Given the description of an element on the screen output the (x, y) to click on. 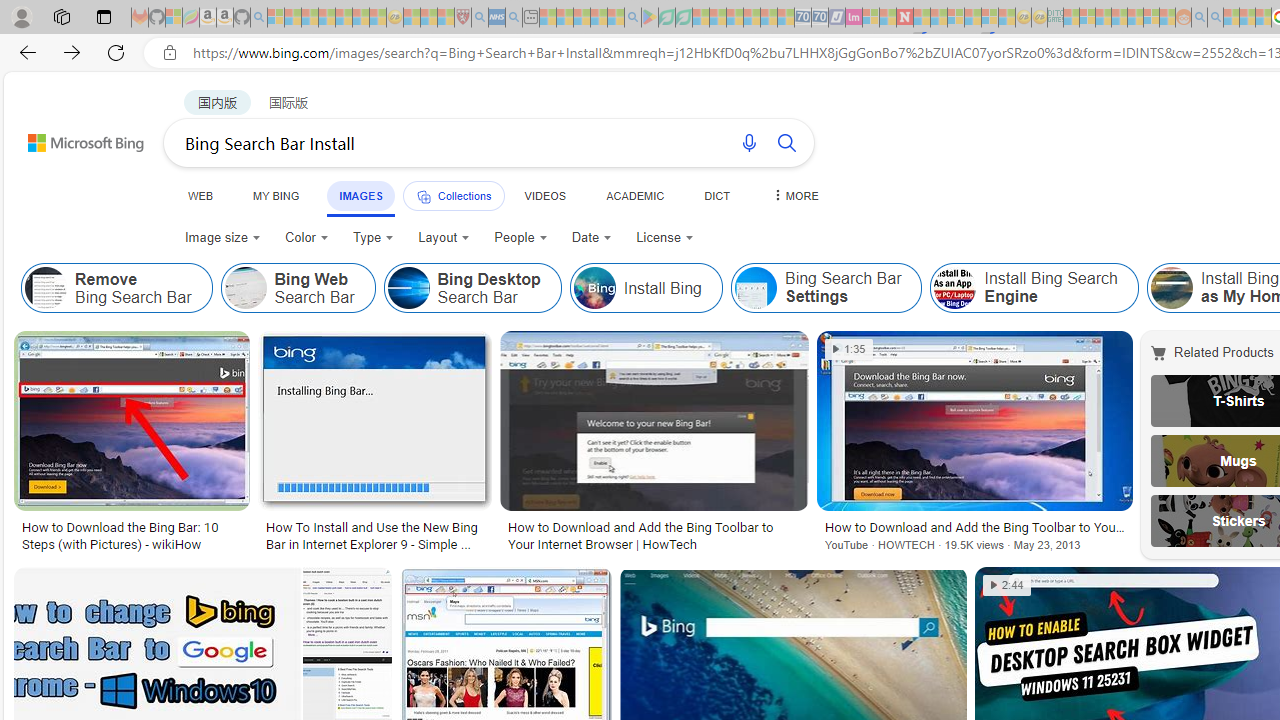
License (665, 237)
Bing Web Search Bar (245, 287)
utah sues federal government - Search - Sleeping (513, 17)
Search button (786, 142)
Color (305, 237)
